Given the description of an element on the screen output the (x, y) to click on. 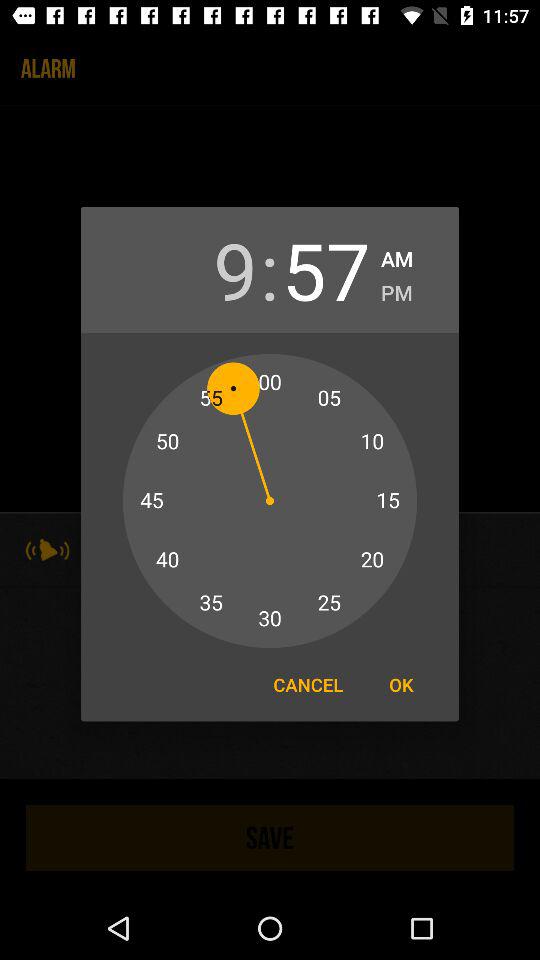
turn off item to the left of the ok item (308, 684)
